Given the description of an element on the screen output the (x, y) to click on. 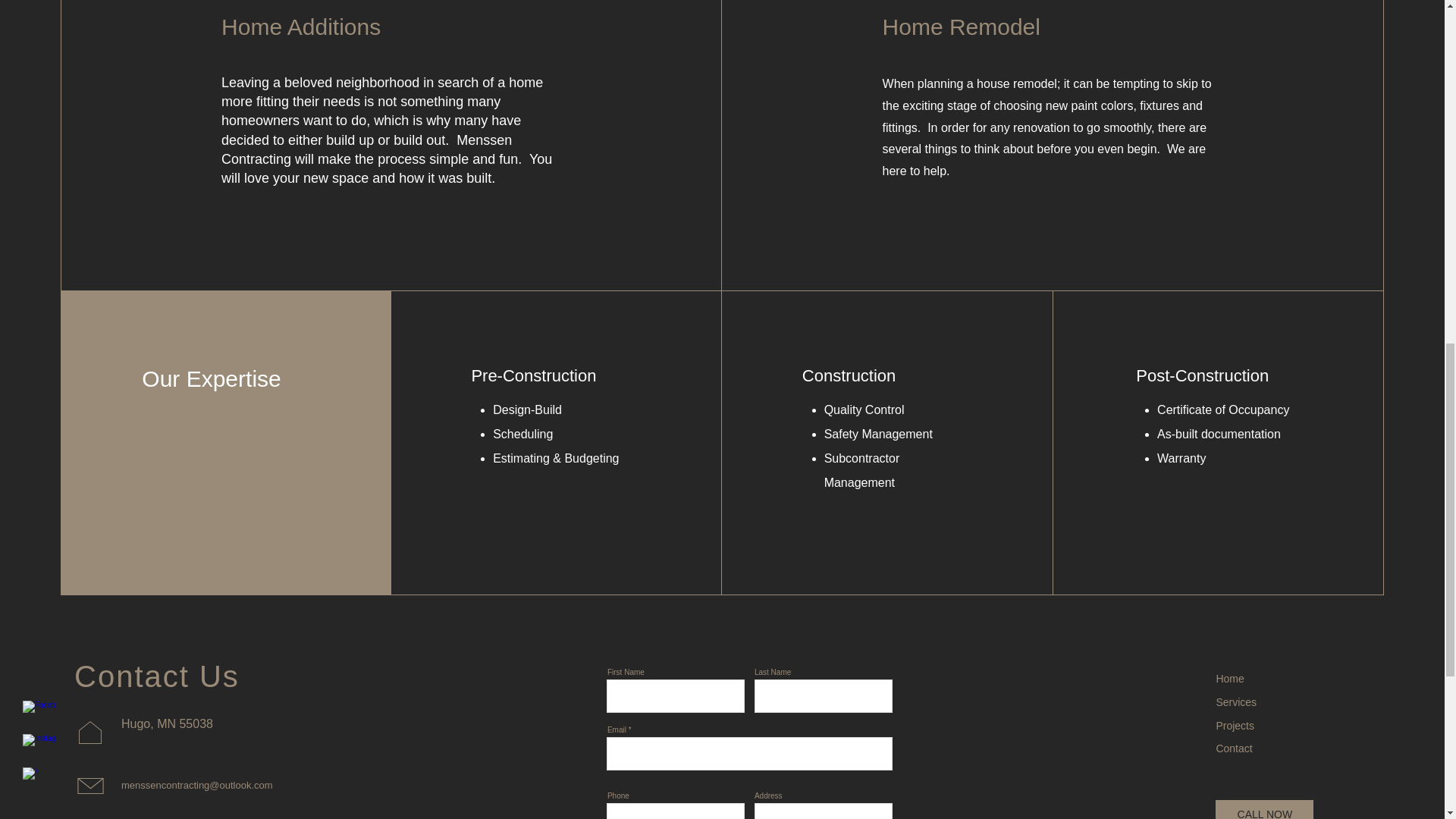
Home (1229, 678)
Services (1235, 702)
CALL NOW (1264, 809)
Contact (1233, 748)
Projects (1234, 725)
